Given the description of an element on the screen output the (x, y) to click on. 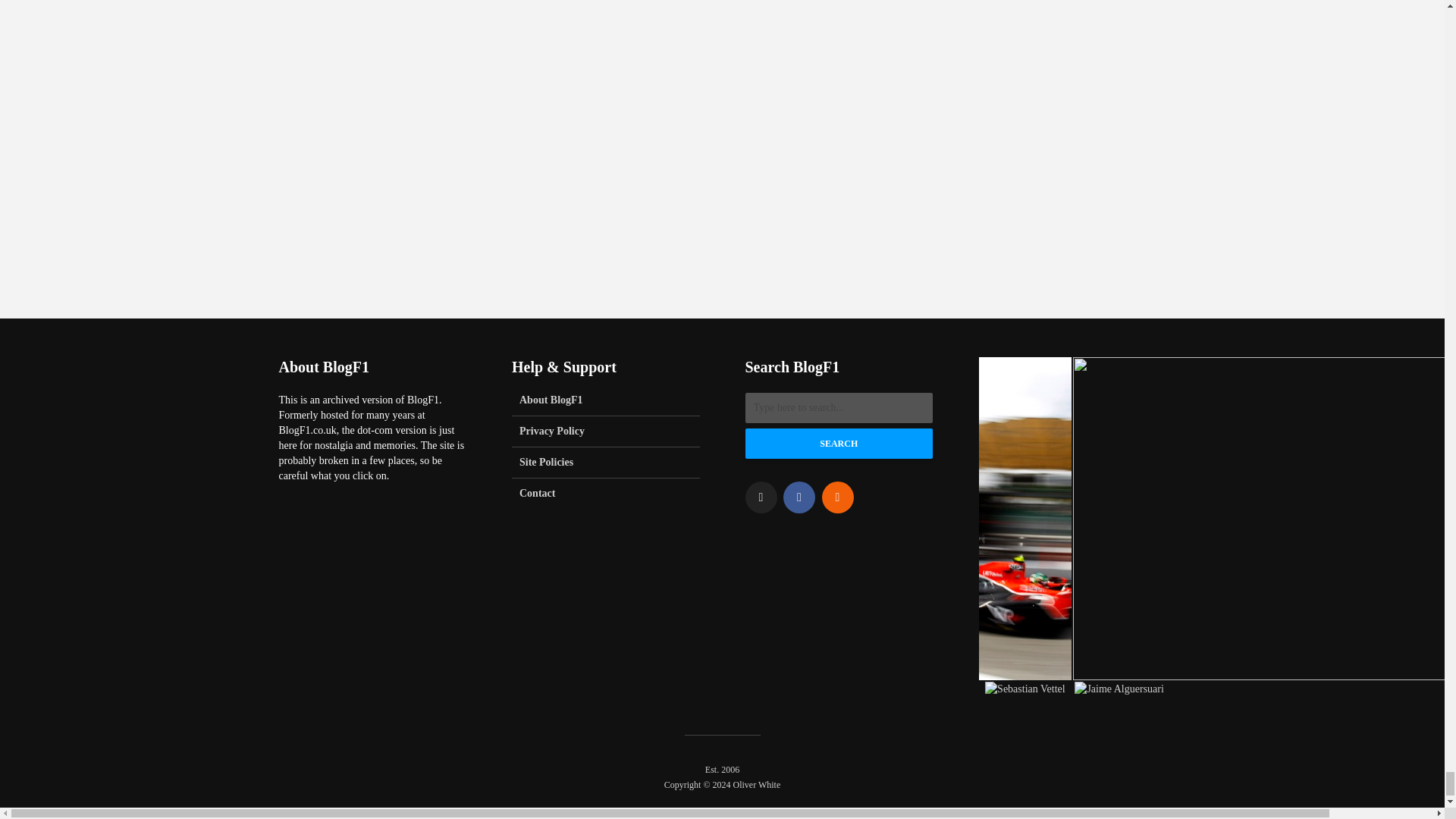
RSS (837, 497)
Facebook (799, 497)
